Given the description of an element on the screen output the (x, y) to click on. 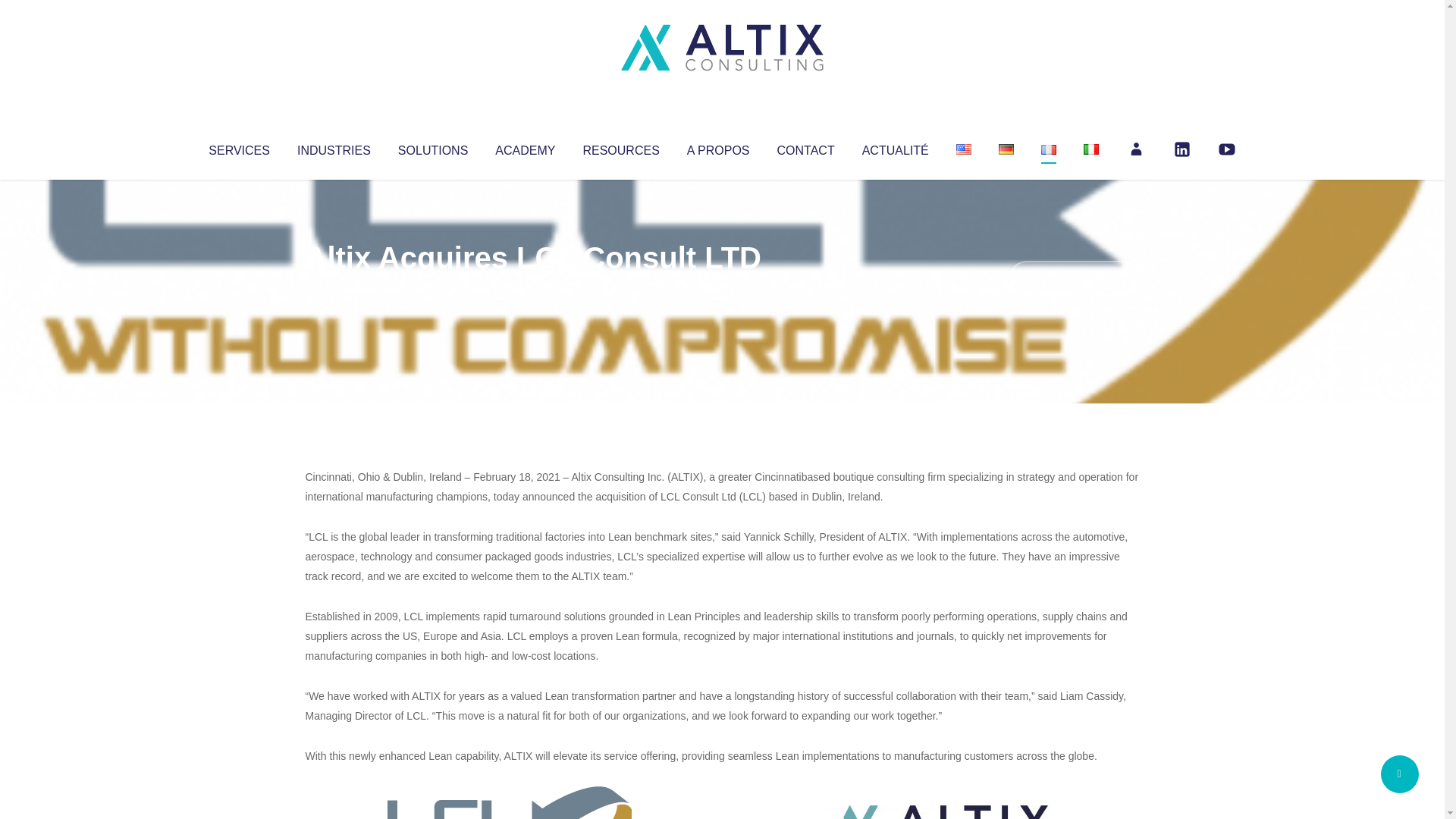
Articles par Altix (333, 287)
No Comments (1073, 278)
Uncategorized (530, 287)
RESOURCES (620, 146)
INDUSTRIES (334, 146)
SERVICES (238, 146)
Altix (333, 287)
A PROPOS (718, 146)
ACADEMY (524, 146)
SOLUTIONS (432, 146)
